Given the description of an element on the screen output the (x, y) to click on. 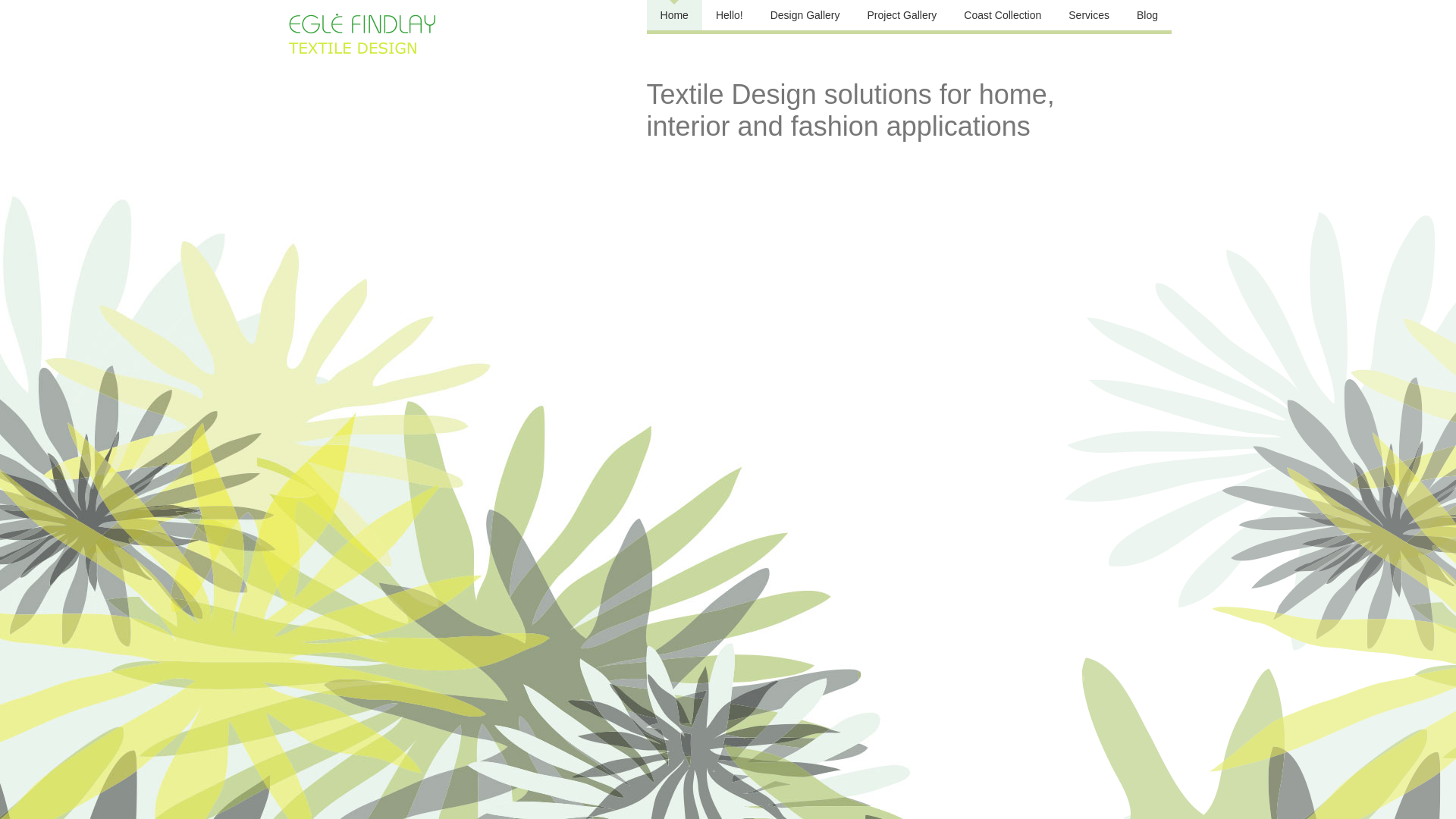
Home Element type: text (674, 15)
Coast Collection Element type: text (1002, 14)
Hello! Element type: text (729, 14)
Project Gallery Element type: text (901, 14)
Design Gallery Element type: text (804, 14)
Services Element type: text (1088, 14)
Blog Element type: text (1147, 14)
